Given the description of an element on the screen output the (x, y) to click on. 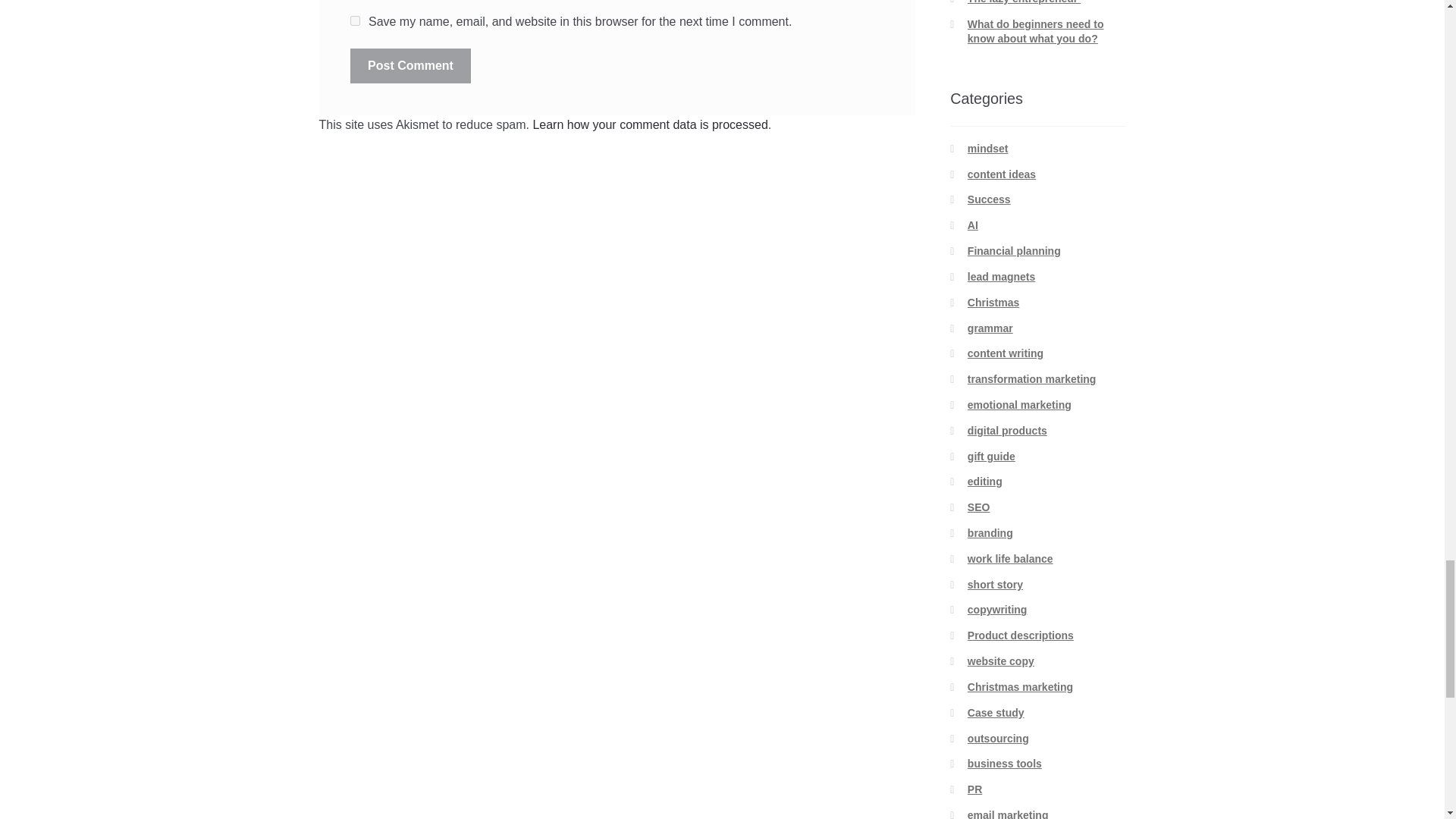
yes (354, 20)
Post Comment (410, 65)
